Given the description of an element on the screen output the (x, y) to click on. 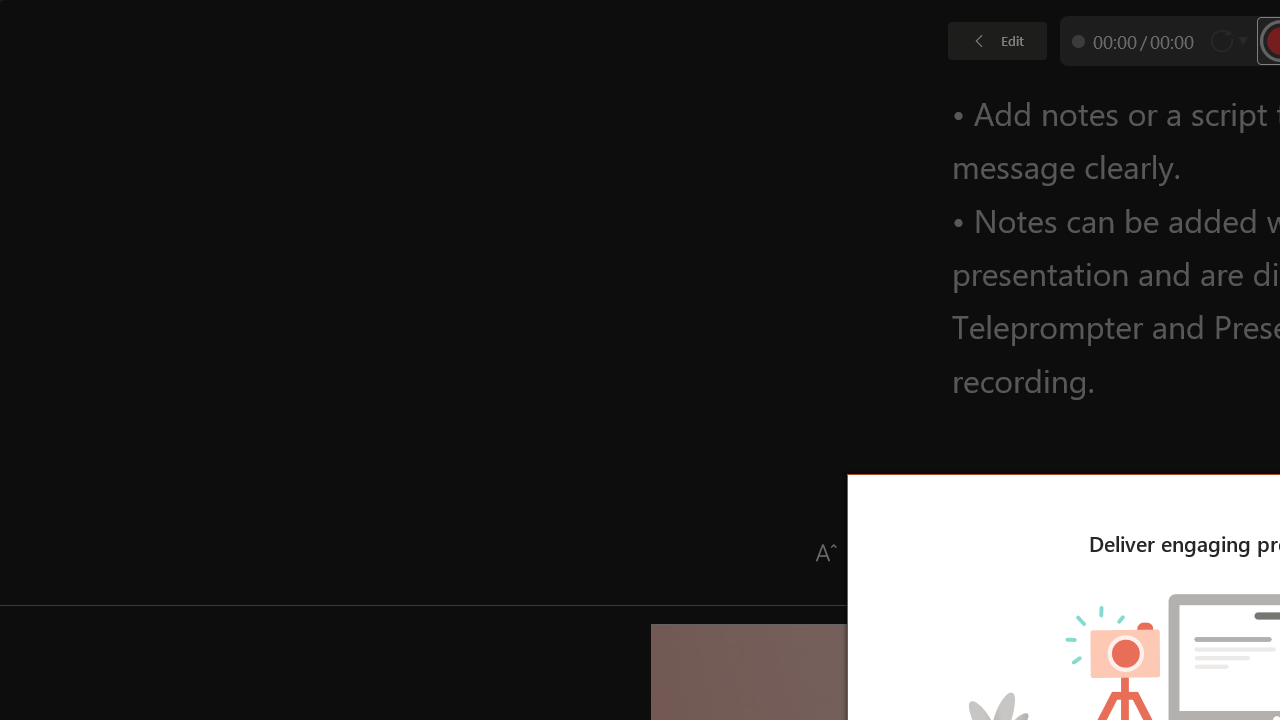
Picture Format (834, 48)
Ion (522, 100)
Facet (243, 100)
Slice (893, 100)
Ion Boardroom (615, 100)
Retrospect (801, 100)
Wisp (987, 100)
